Given the description of an element on the screen output the (x, y) to click on. 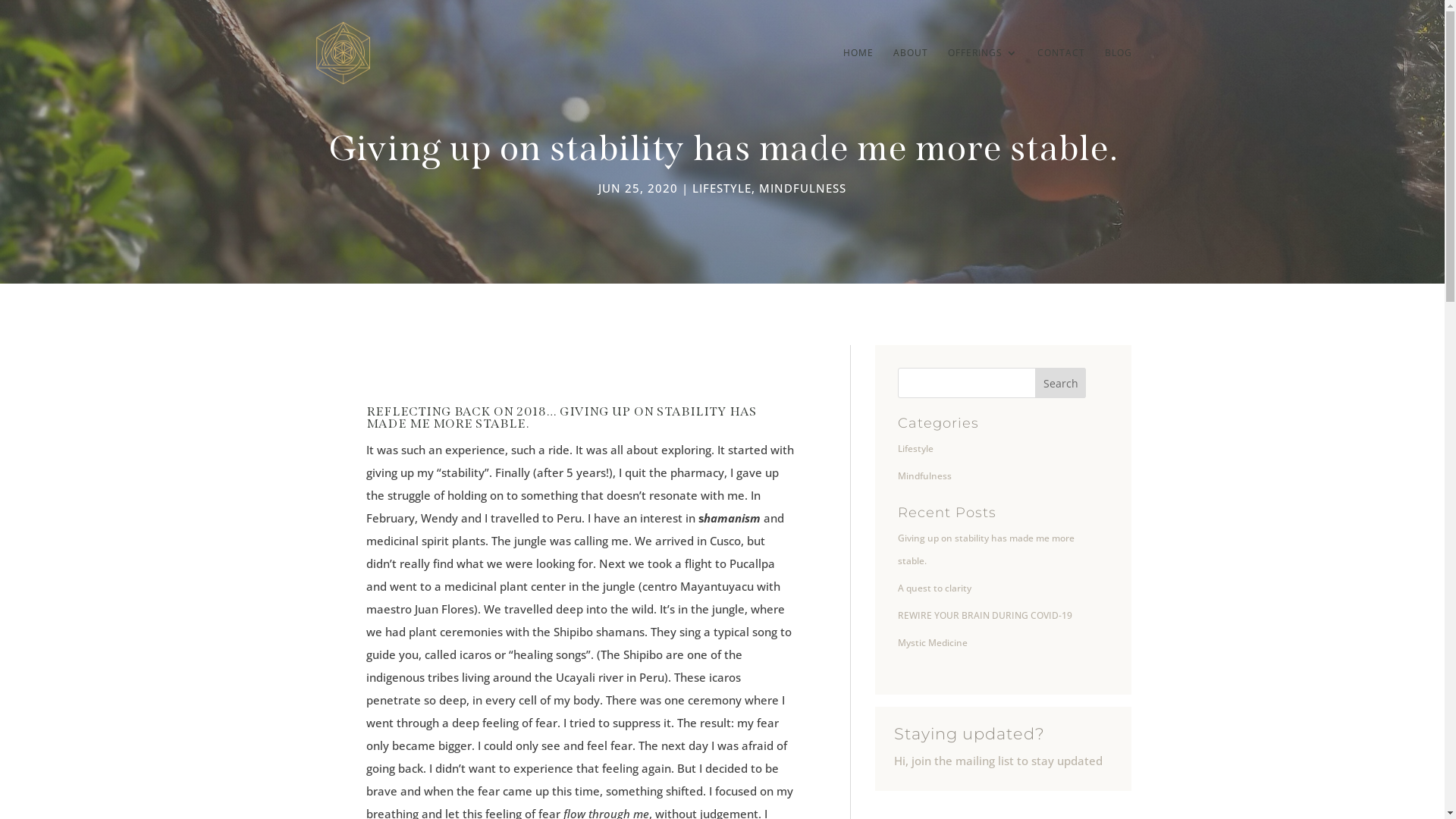
HOME Element type: text (858, 76)
LIFESTYLE Element type: text (721, 187)
Mystic Medicine Element type: text (932, 642)
REWIRE YOUR BRAIN DURING COVID-19 Element type: text (984, 614)
Lifestyle Element type: text (915, 448)
Mindfulness Element type: text (924, 475)
CONTACT Element type: text (1061, 76)
A quest to clarity Element type: text (934, 587)
MINDFULNESS Element type: text (802, 187)
Giving up on stability has made me more stable. Element type: text (985, 549)
ABOUT Element type: text (910, 76)
Search Element type: text (1060, 382)
OFFERINGS Element type: text (982, 76)
BLOG Element type: text (1117, 76)
